Given the description of an element on the screen output the (x, y) to click on. 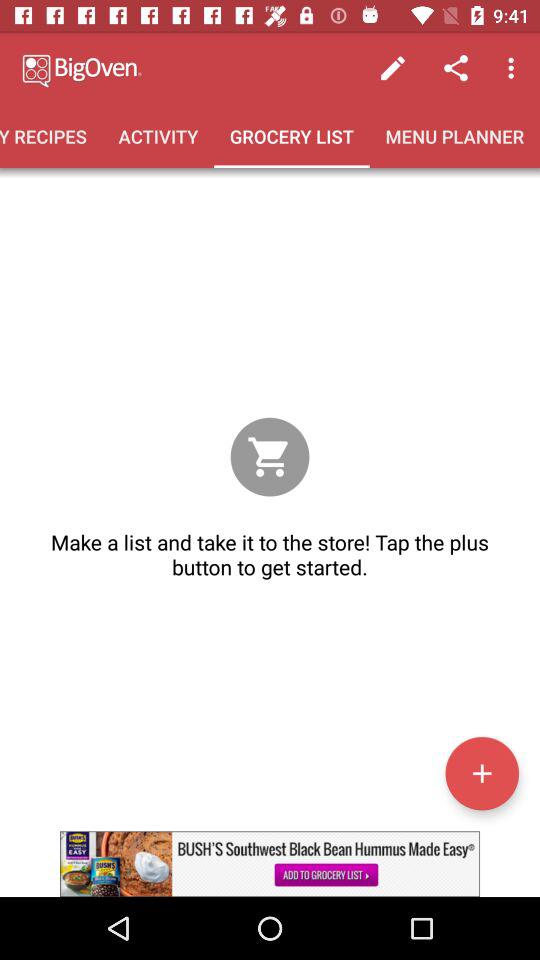
start a new grocery list (482, 773)
